Given the description of an element on the screen output the (x, y) to click on. 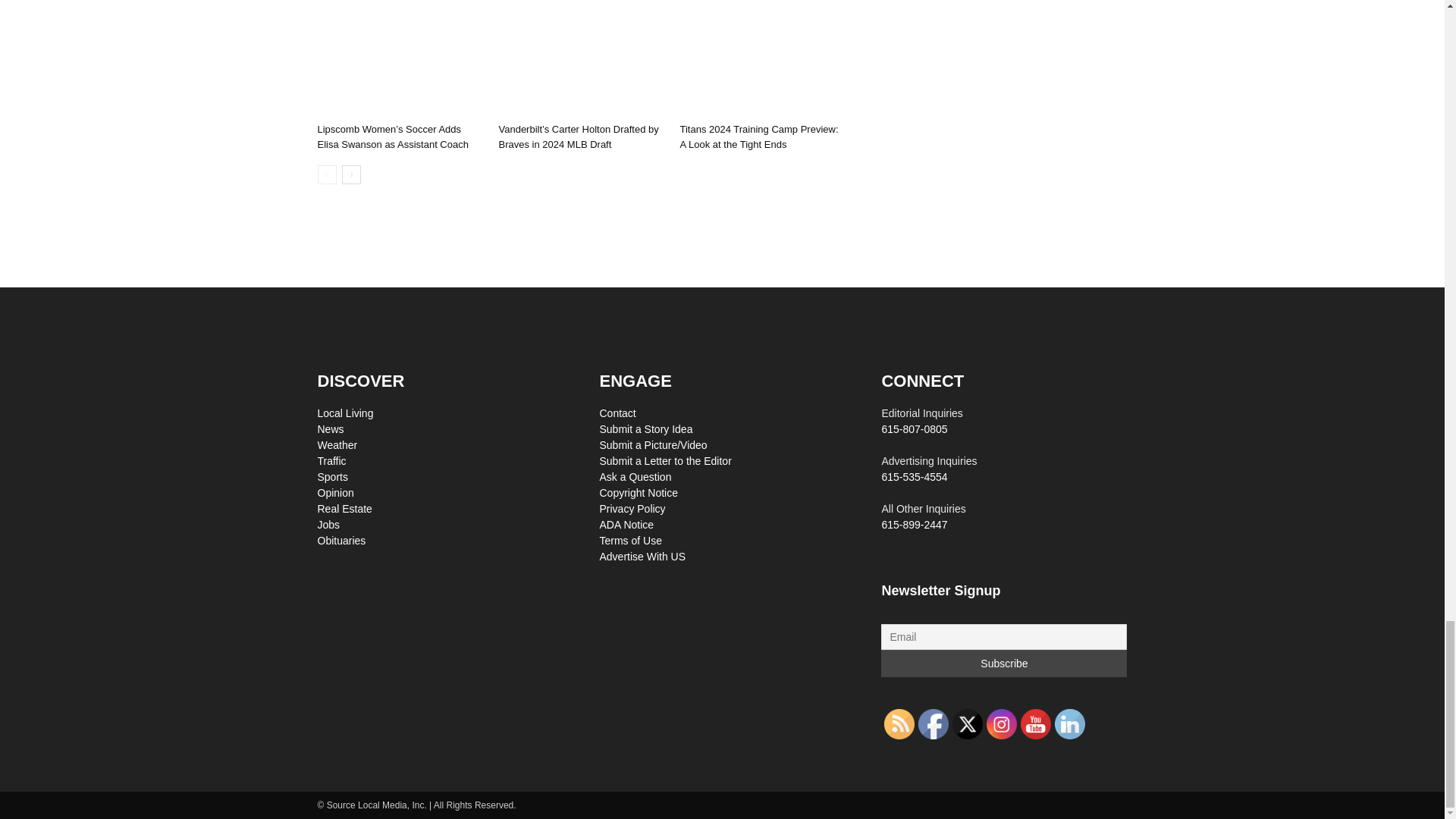
Subscribe (1003, 663)
